Given the description of an element on the screen output the (x, y) to click on. 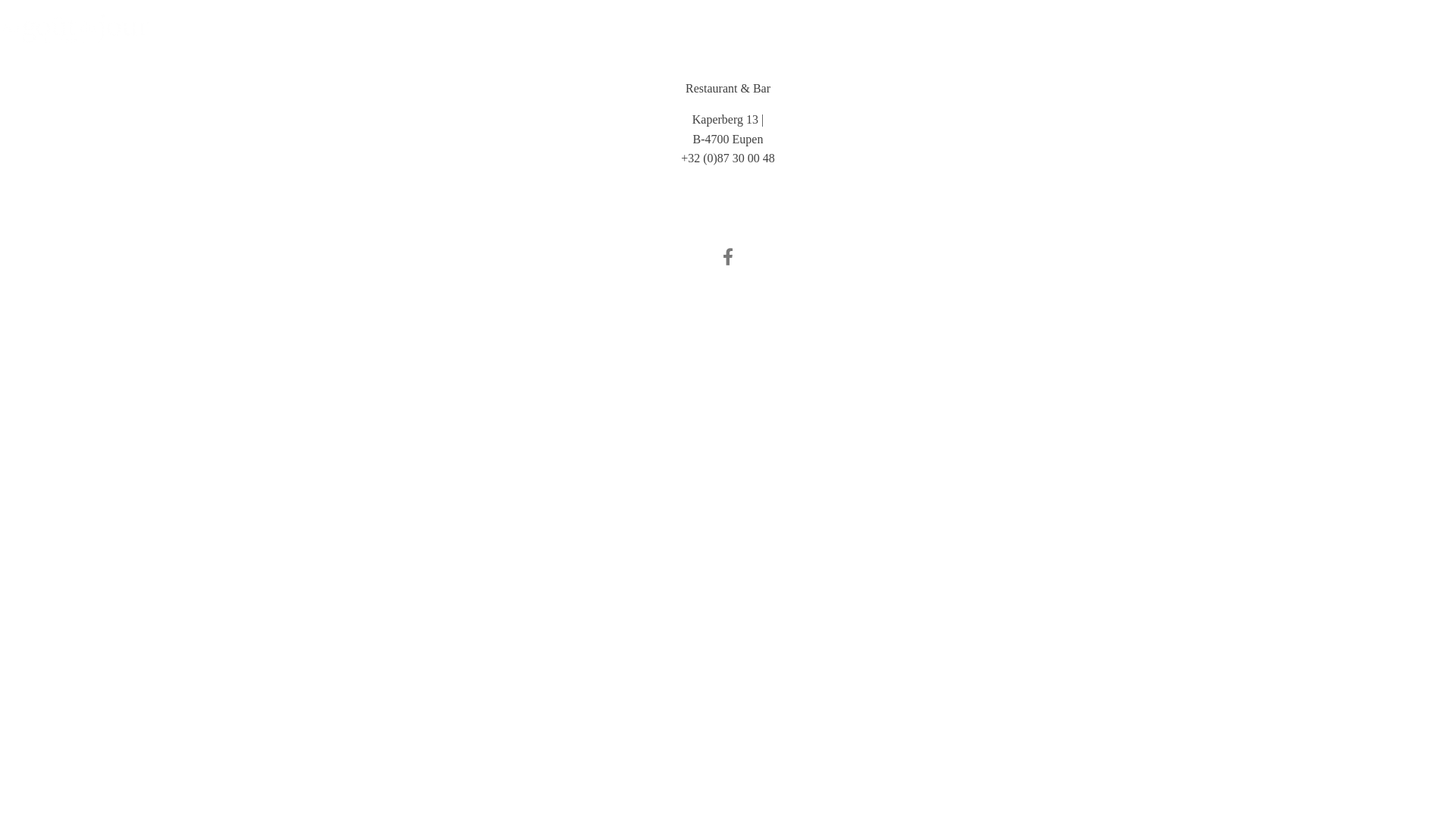
resto@augoutdujoureupen.be Element type: text (727, 177)
